Given the description of an element on the screen output the (x, y) to click on. 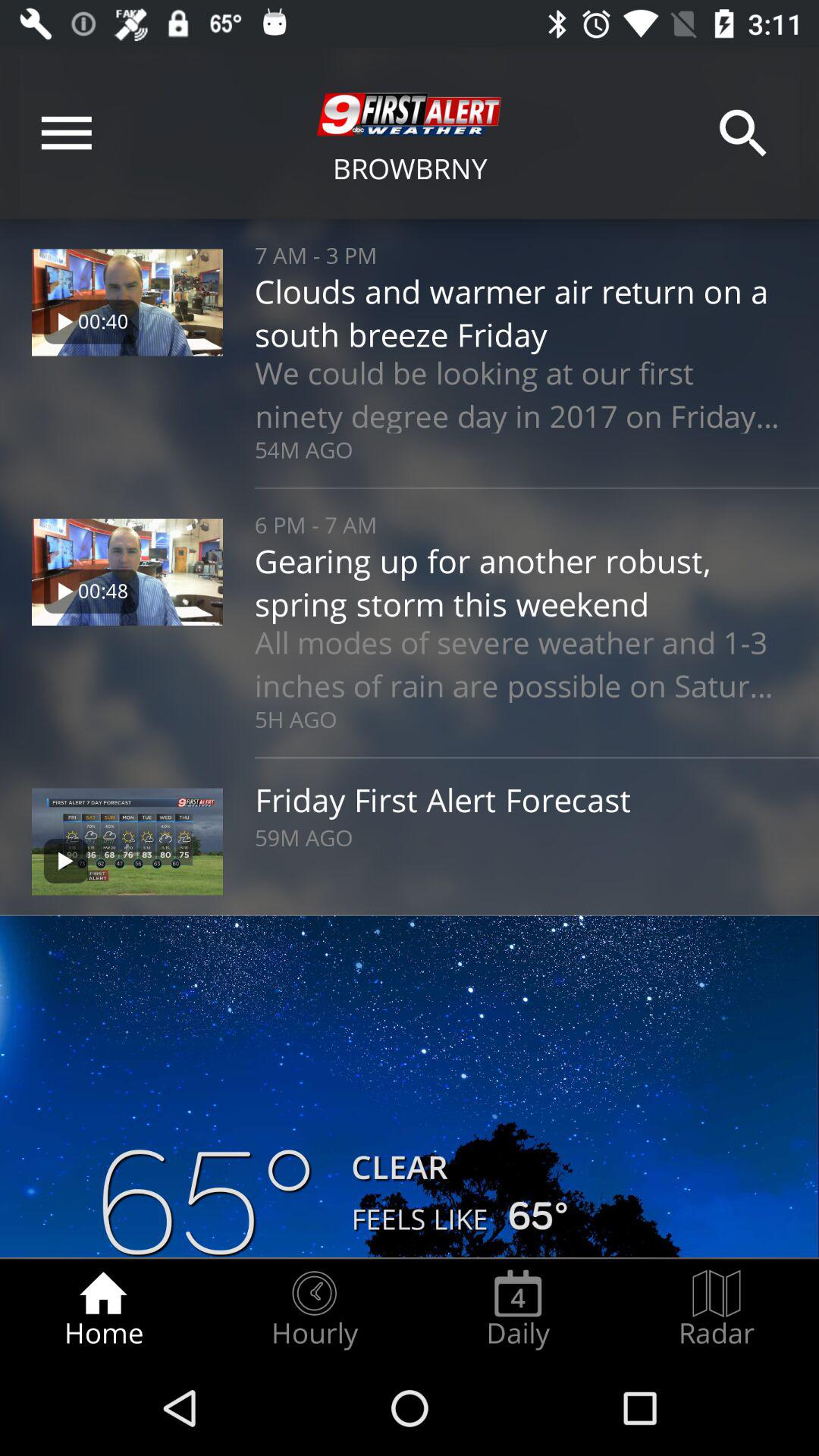
select the icon next to the home (314, 1309)
